Given the description of an element on the screen output the (x, y) to click on. 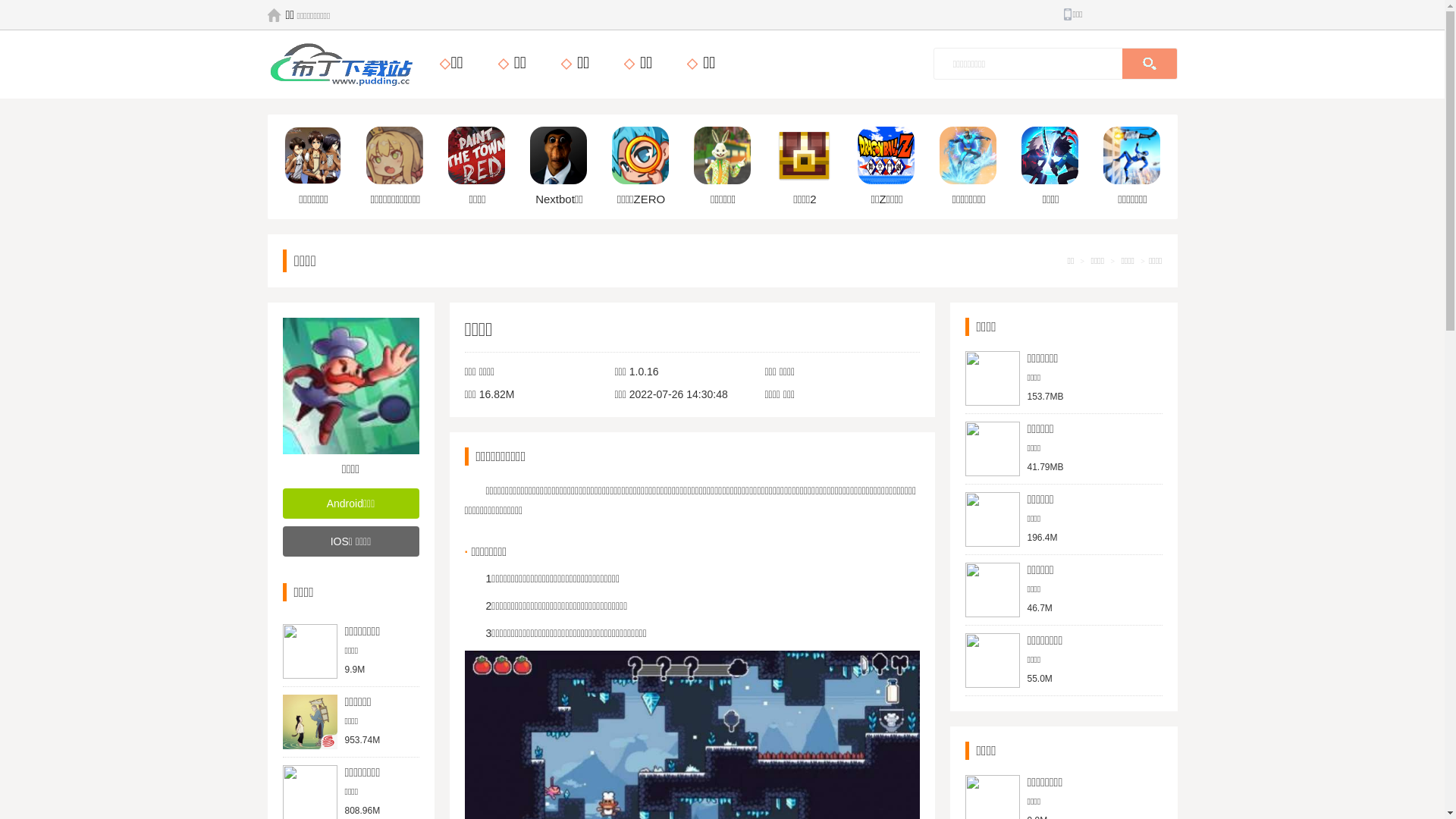
2022-07-26 14:30:48 Element type: text (678, 394)
16.82M Element type: text (496, 394)
1.0.16 Element type: text (643, 371)
